Given the description of an element on the screen output the (x, y) to click on. 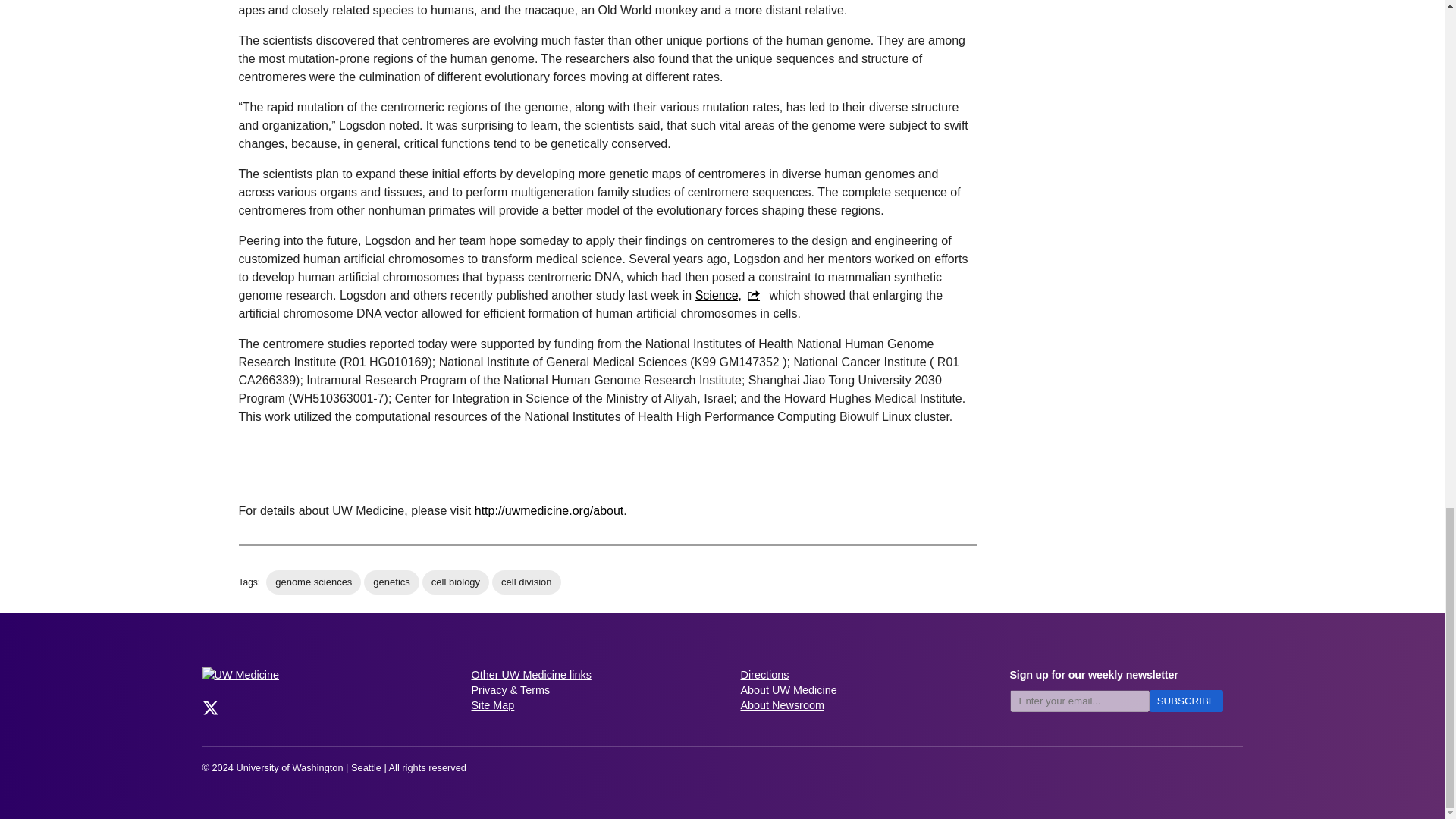
About UW Medicine (855, 689)
cell division (526, 582)
genome sciences (313, 582)
cell biology (455, 582)
Science, (730, 295)
Other UW Medicine links (587, 674)
Site Map (587, 704)
genetics (391, 582)
Directions (855, 674)
